Given the description of an element on the screen output the (x, y) to click on. 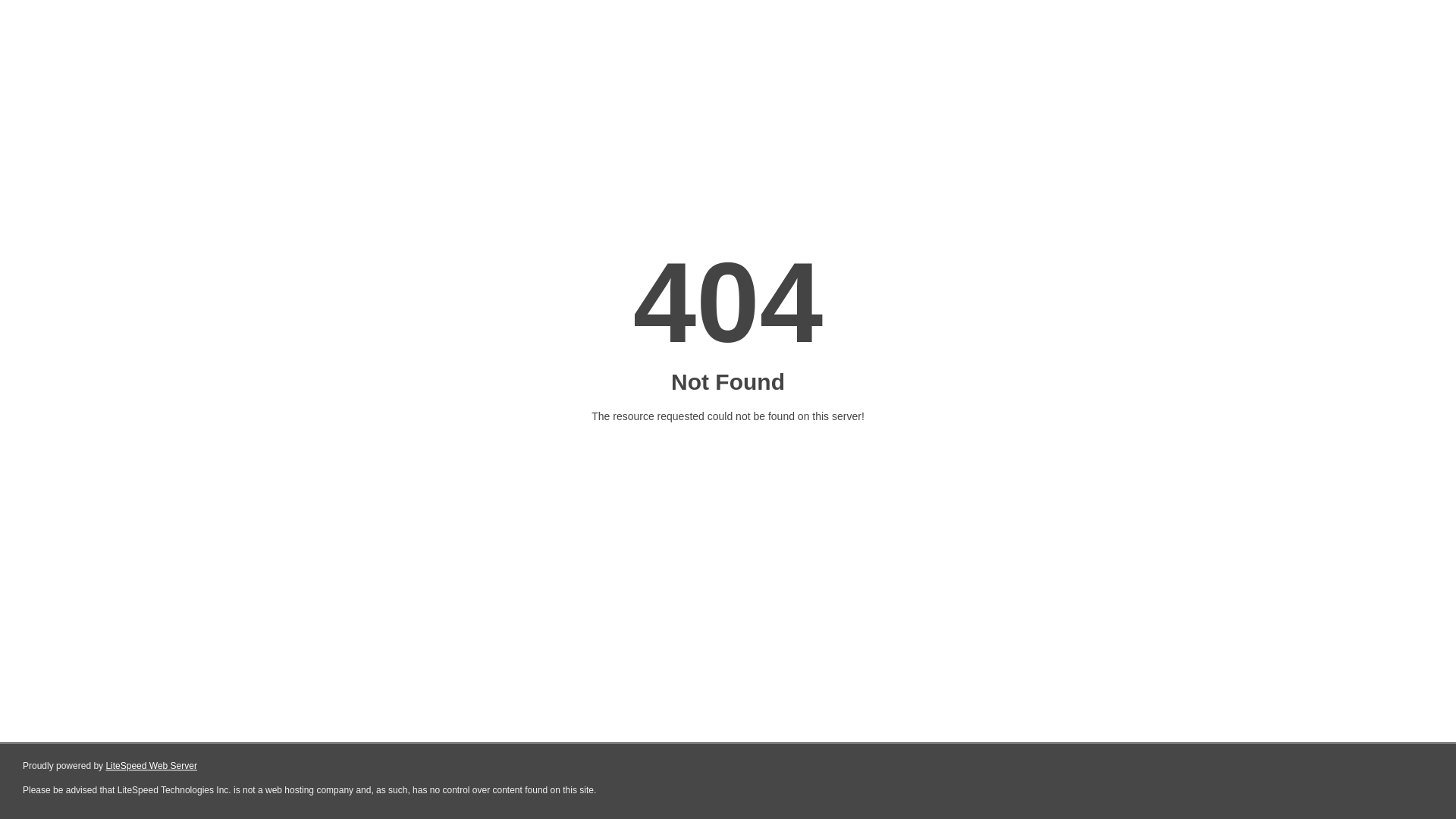
LiteSpeed Web Server Element type: text (151, 765)
